Given the description of an element on the screen output the (x, y) to click on. 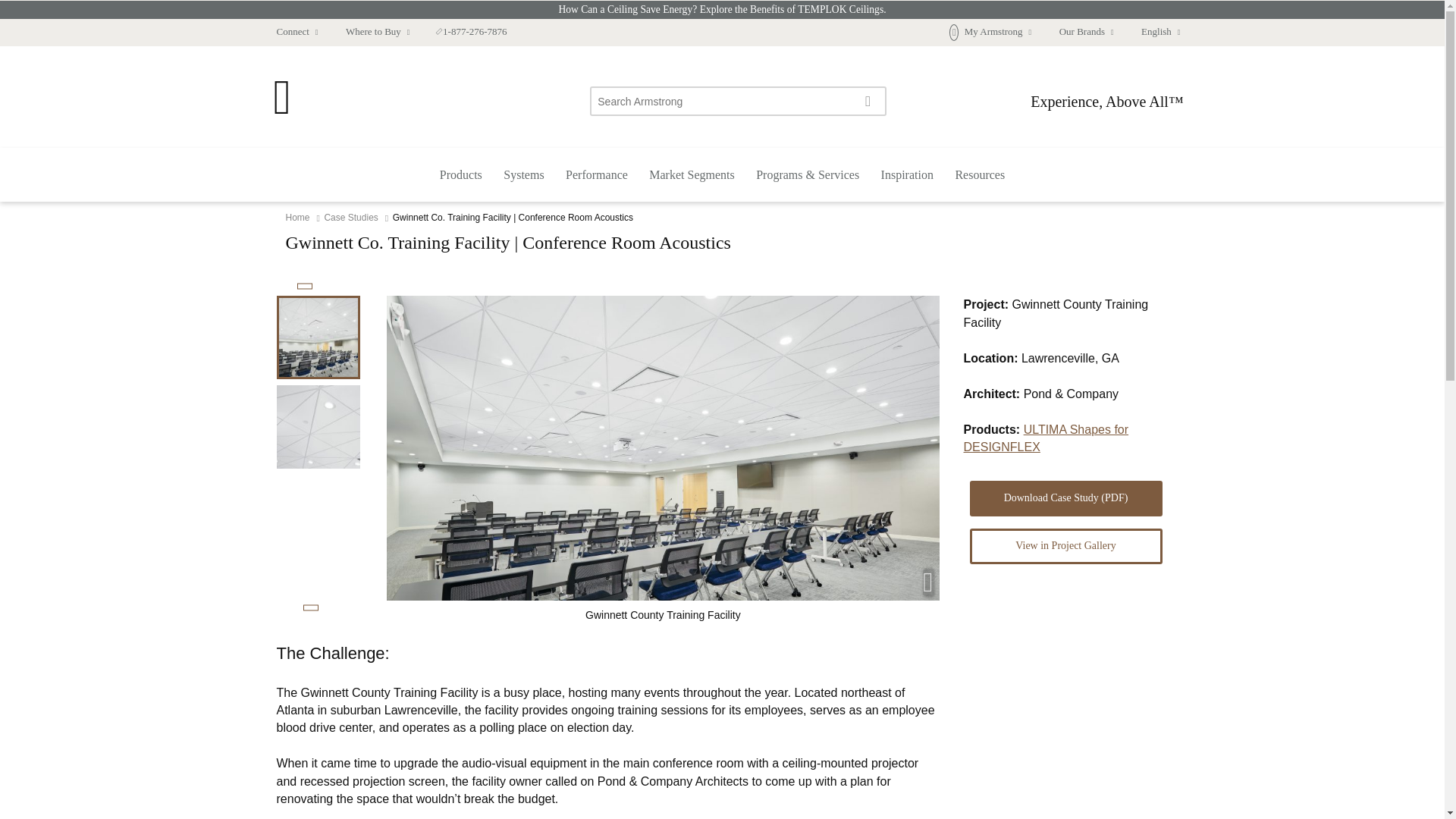
English (1154, 31)
My Armstrong (990, 31)
Gwinnett County Training Facility (317, 337)
1-877-276-7876 (472, 31)
Gwinnett County Training Facility (317, 426)
Connect (296, 31)
Our Brands (1085, 31)
Commercial Ceilings Home (281, 109)
Where to Buy (377, 31)
